Given the description of an element on the screen output the (x, y) to click on. 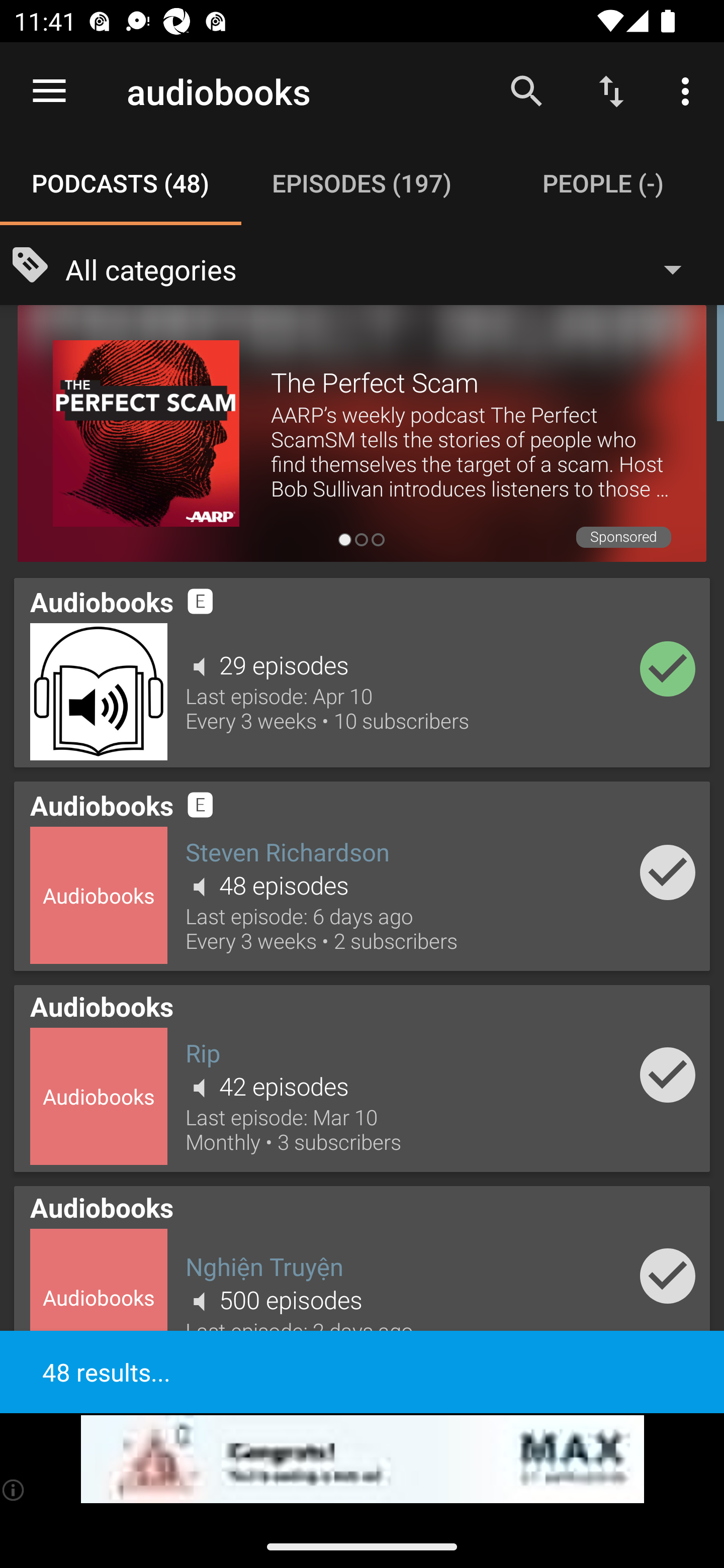
Open navigation sidebar (49, 91)
Search (526, 90)
Sort (611, 90)
More options (688, 90)
Episodes (197) EPISODES (197) (361, 183)
People (-) PEOPLE (-) (603, 183)
All categories (383, 268)
Add (667, 669)
Add (667, 871)
Add (667, 1074)
Add (667, 1276)
app-monetization (362, 1459)
(i) (14, 1489)
